Given the description of an element on the screen output the (x, y) to click on. 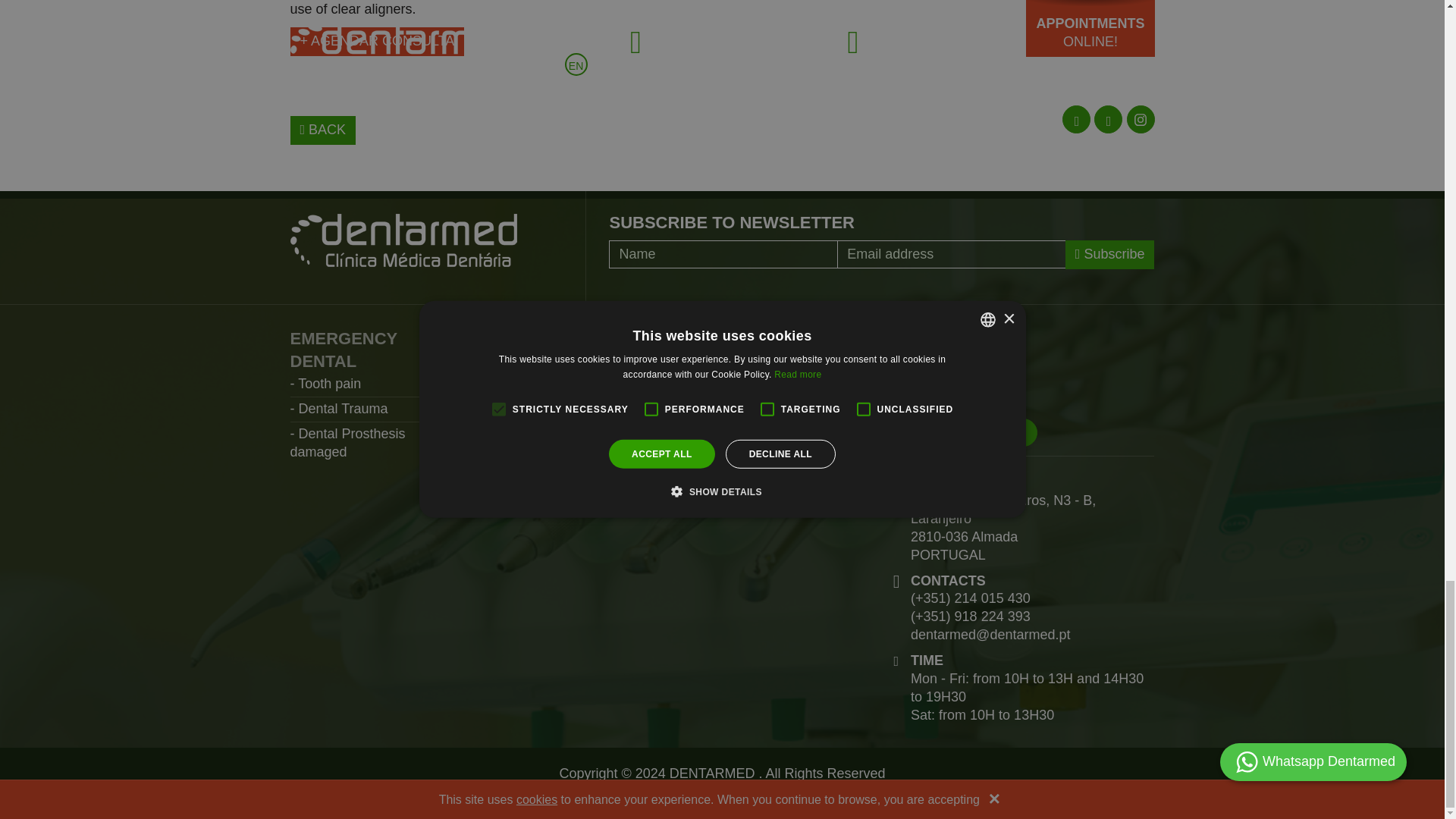
Website development (768, 791)
